Given the description of an element on the screen output the (x, y) to click on. 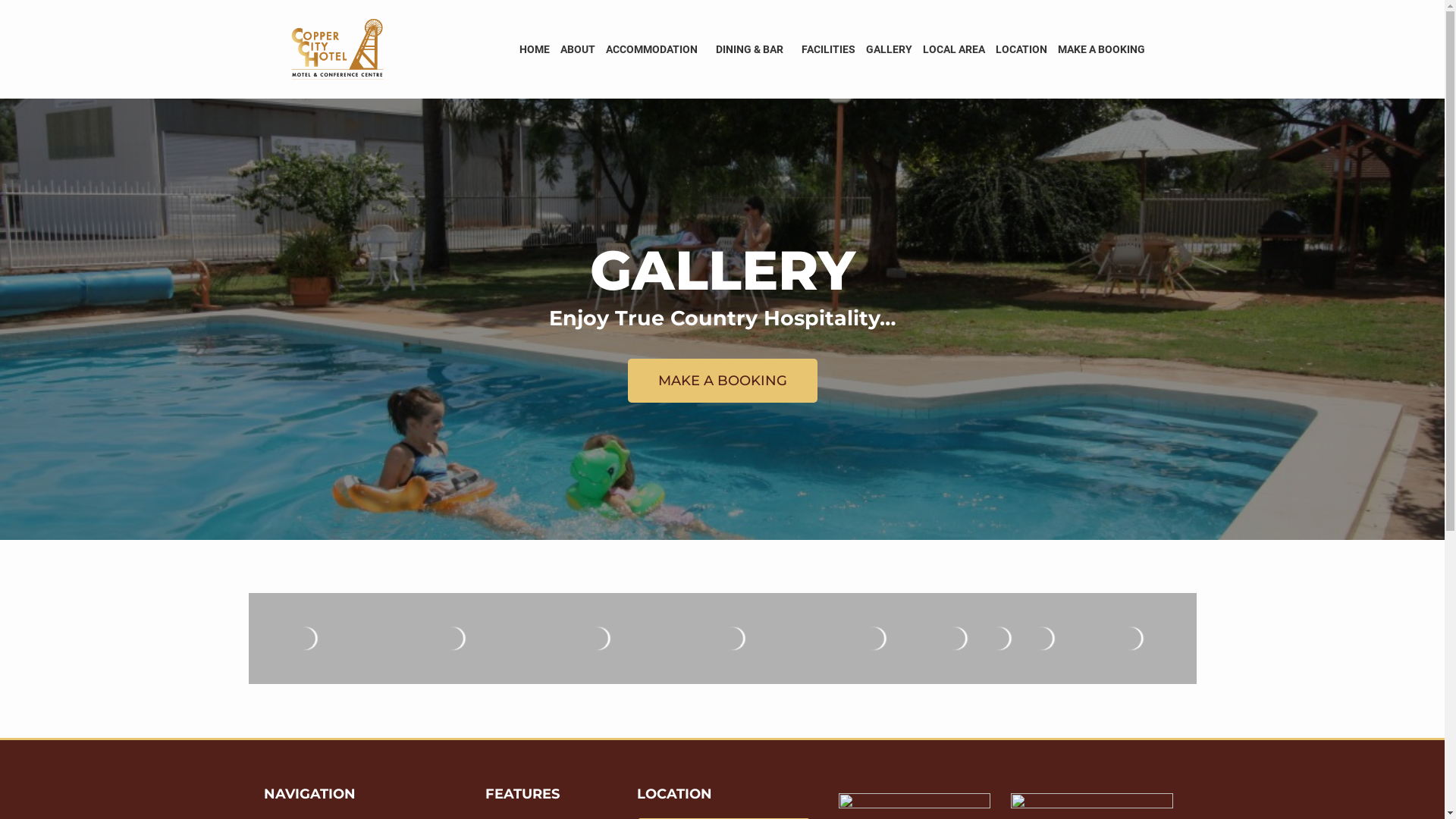
HOME Element type: text (534, 48)
GALLERY Element type: text (887, 48)
DINING & BAR Element type: text (752, 48)
ABOUT Element type: text (577, 48)
LOCAL AREA Element type: text (953, 48)
LOCATION Element type: text (1021, 48)
ACCOMMODATION Element type: text (655, 48)
FACILITIES Element type: text (828, 48)
MAKE A BOOKING Element type: text (722, 380)
MAKE A BOOKING Element type: text (1101, 48)
